Given the description of an element on the screen output the (x, y) to click on. 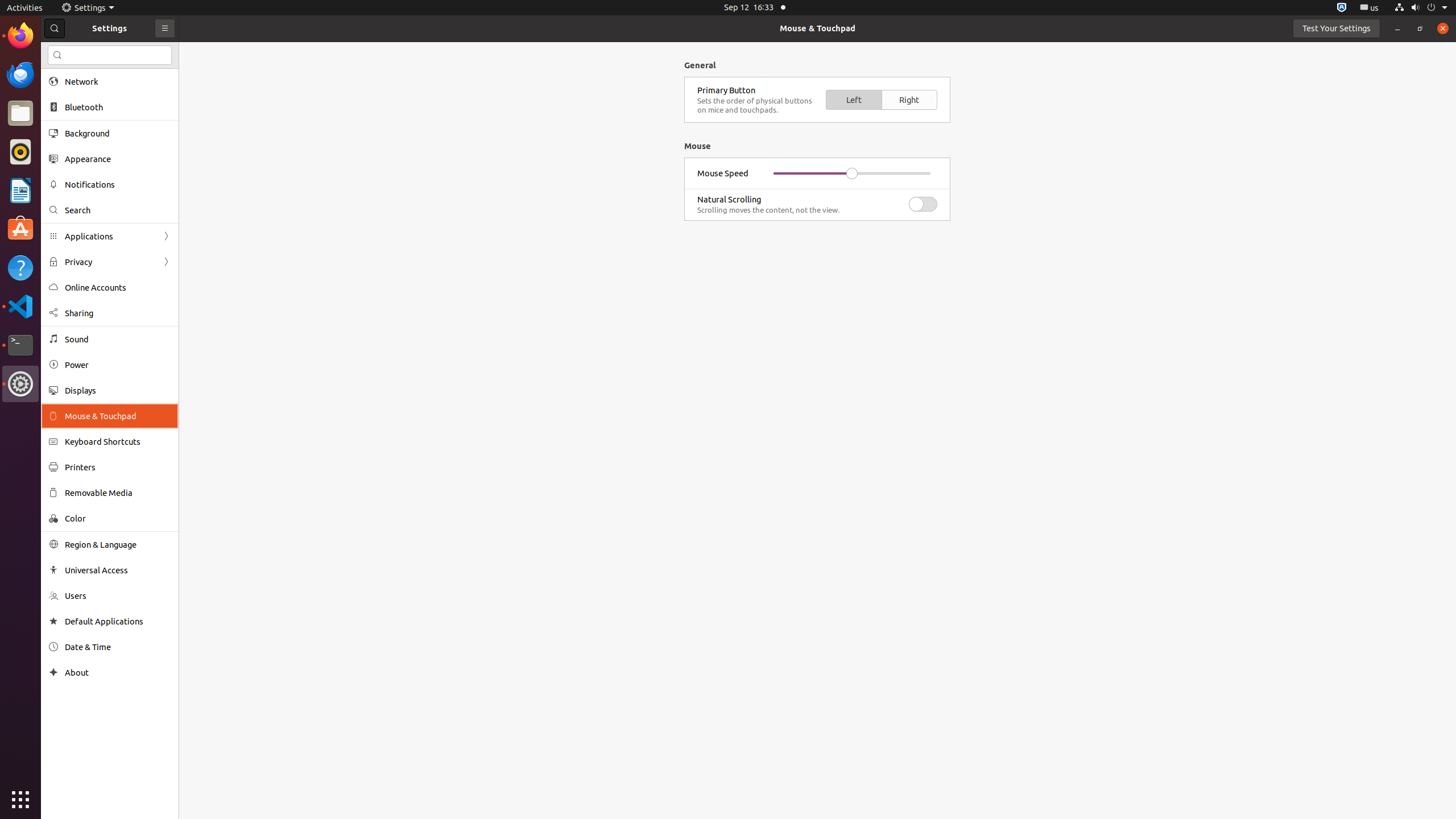
About Element type: icon (53, 672)
Background Element type: label (117, 133)
Sharing Element type: label (117, 312)
Minimize Element type: push-button (1397, 27)
Color Element type: label (117, 518)
